Given the description of an element on the screen output the (x, y) to click on. 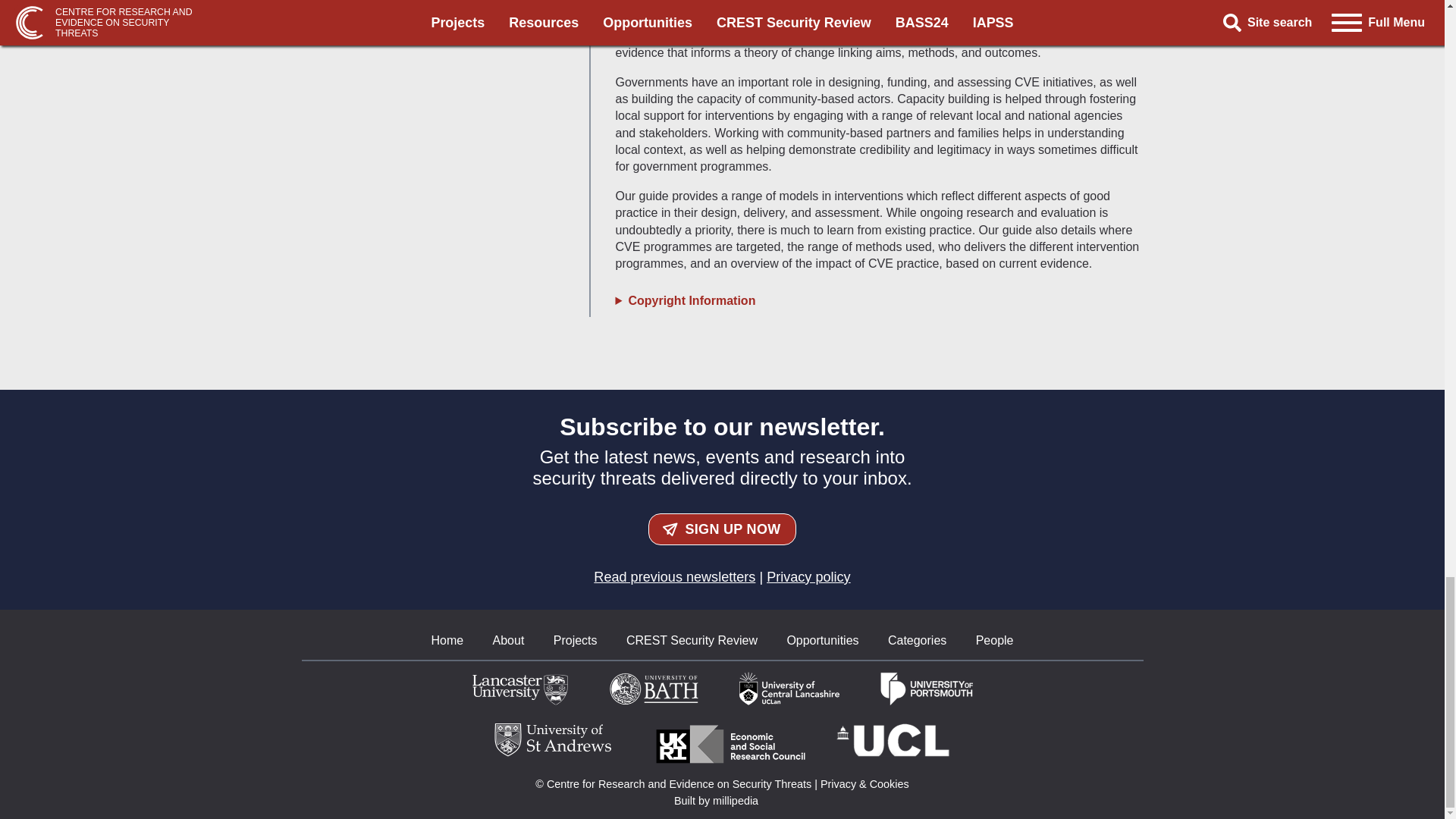
People (994, 640)
Home (446, 640)
Privacy policy (808, 576)
Opportunities (822, 640)
Read previous newsletters (674, 576)
Projects (574, 640)
SIGN UP NOW (721, 529)
About (508, 640)
CREST Security Review (691, 640)
Built by millipedia (722, 800)
Categories (917, 640)
